Given the description of an element on the screen output the (x, y) to click on. 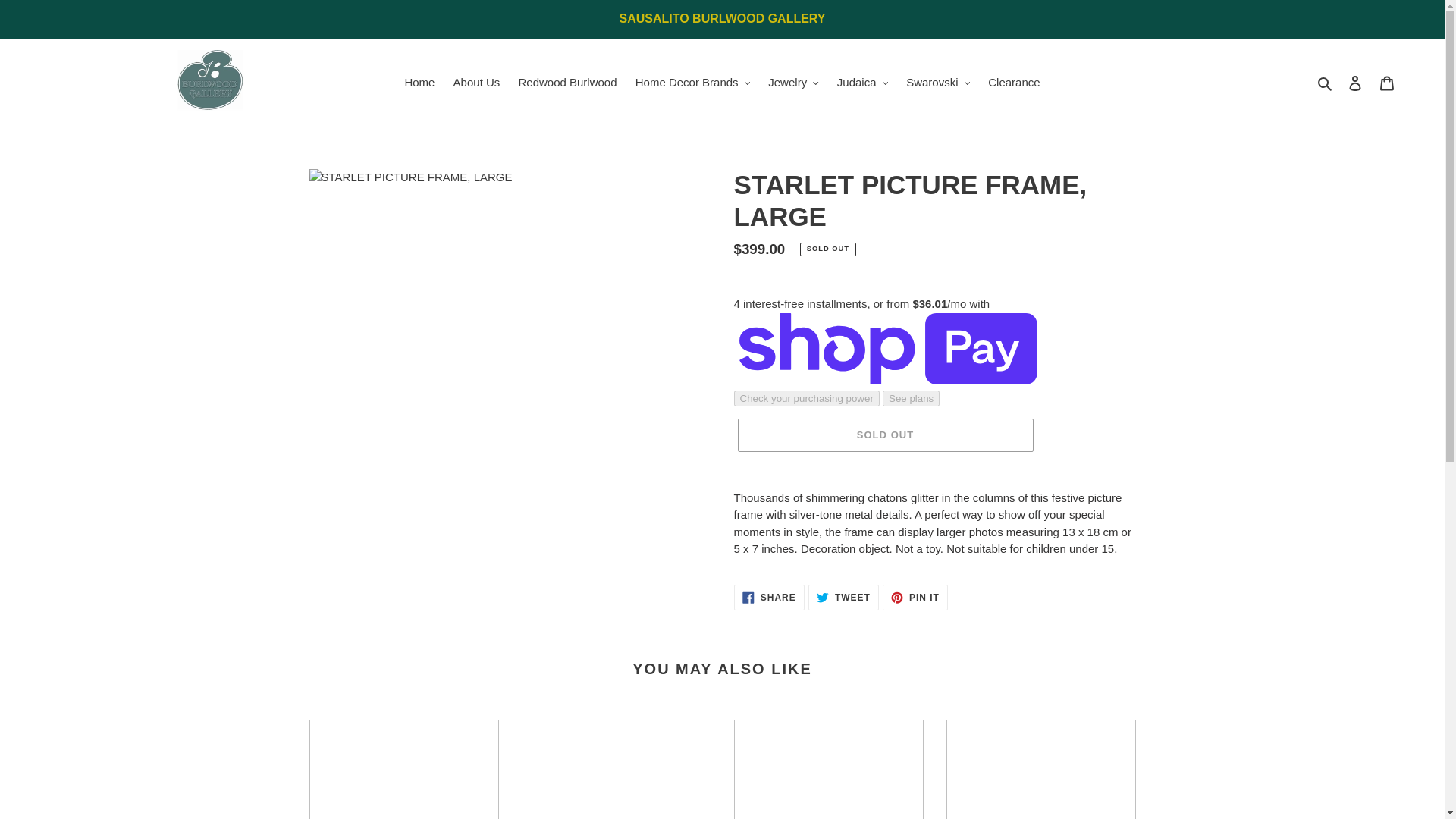
Home Decor Brands (692, 83)
Redwood Burlwood (567, 83)
Home (419, 83)
Jewelry (792, 83)
About Us (476, 83)
